Given the description of an element on the screen output the (x, y) to click on. 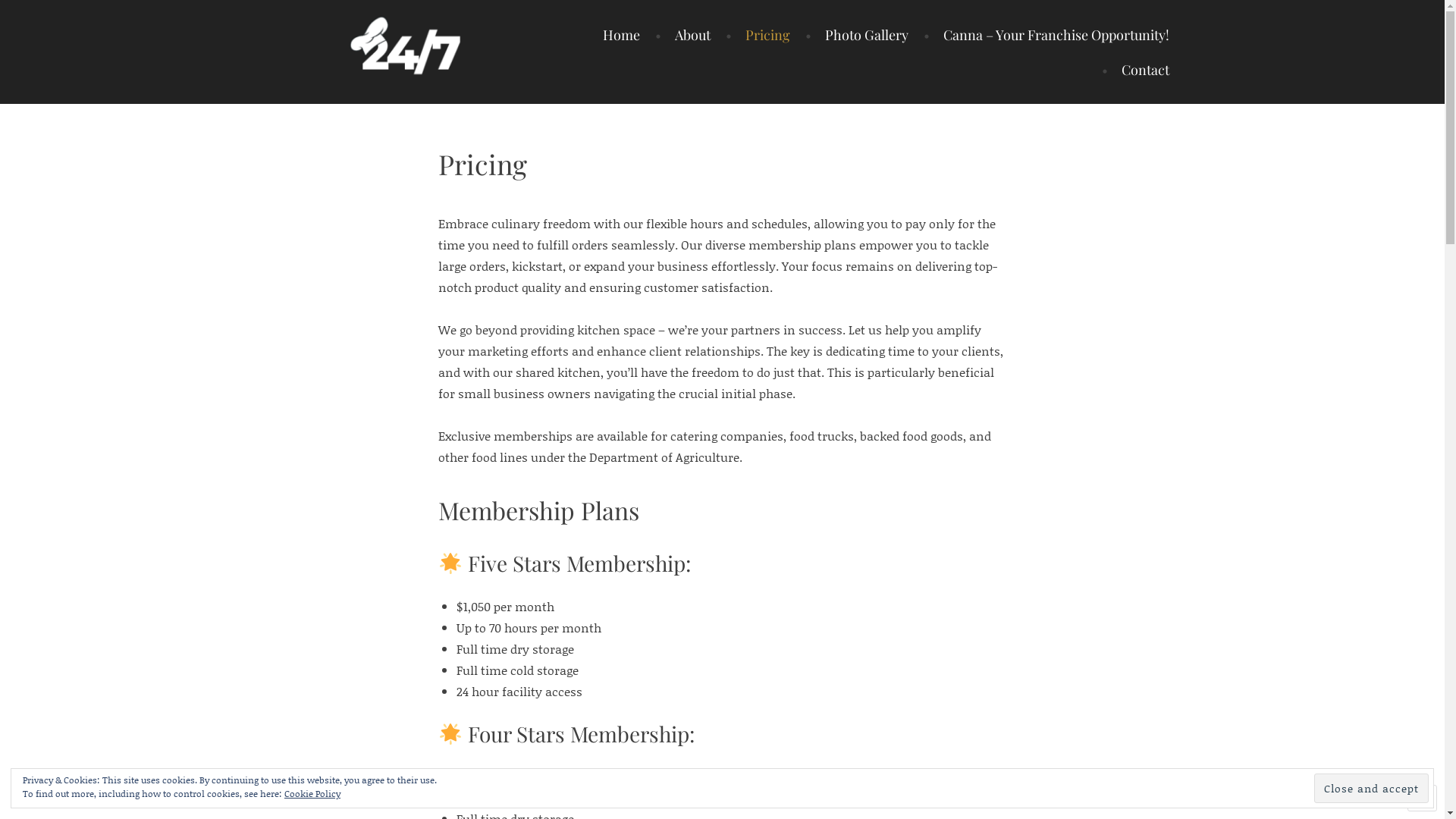
Close and accept Element type: text (1371, 788)
Photo Gallery Element type: text (856, 34)
About Element type: text (682, 34)
Cookie Policy Element type: text (312, 793)
Home Element type: text (621, 34)
Contact Element type: text (1135, 69)
Pricing Element type: text (757, 34)
